Given the description of an element on the screen output the (x, y) to click on. 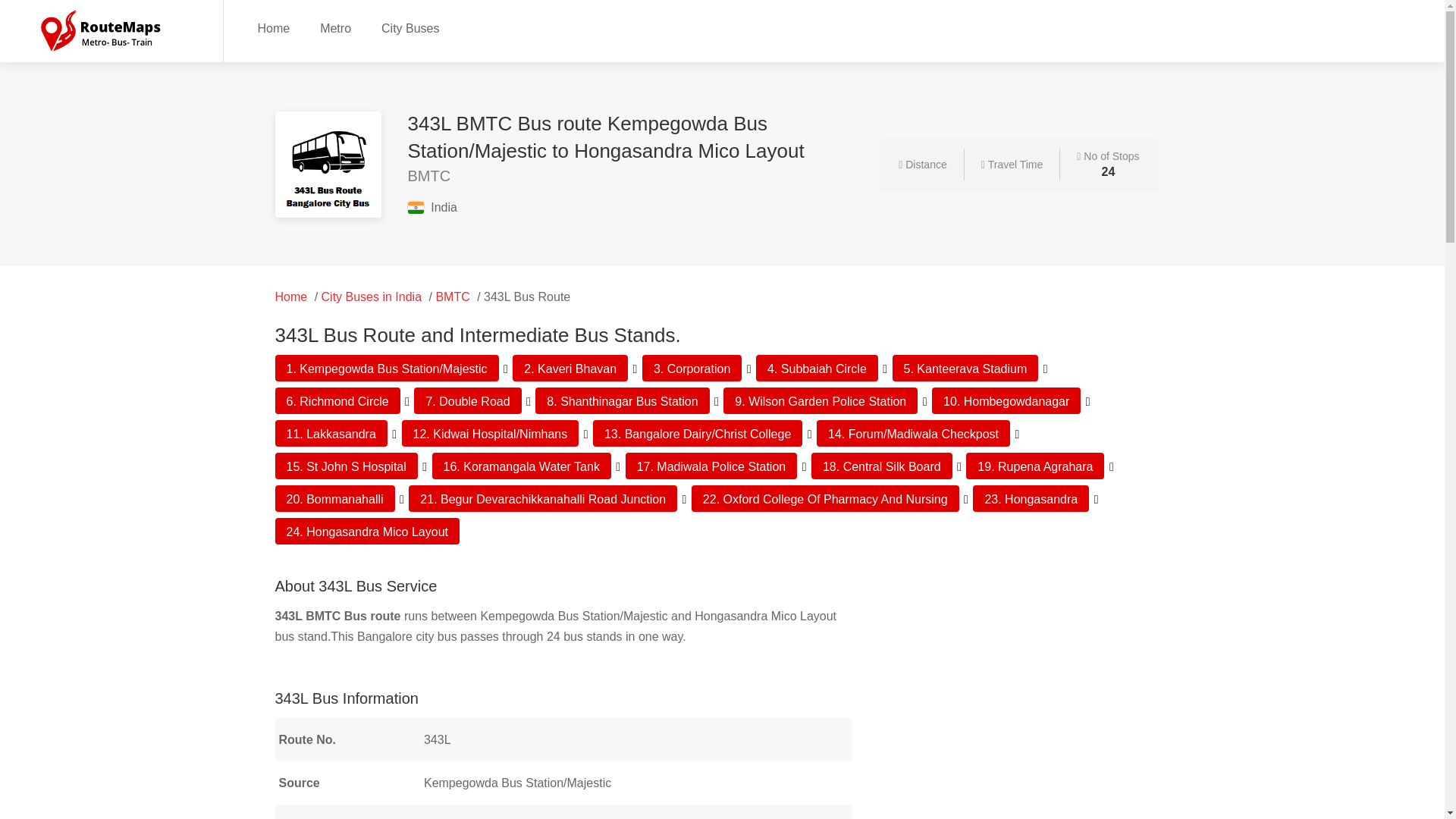
Home (273, 28)
City Buses in India (371, 296)
Home (291, 296)
City Buses (409, 28)
Metro (335, 28)
BMTC (451, 296)
